Given the description of an element on the screen output the (x, y) to click on. 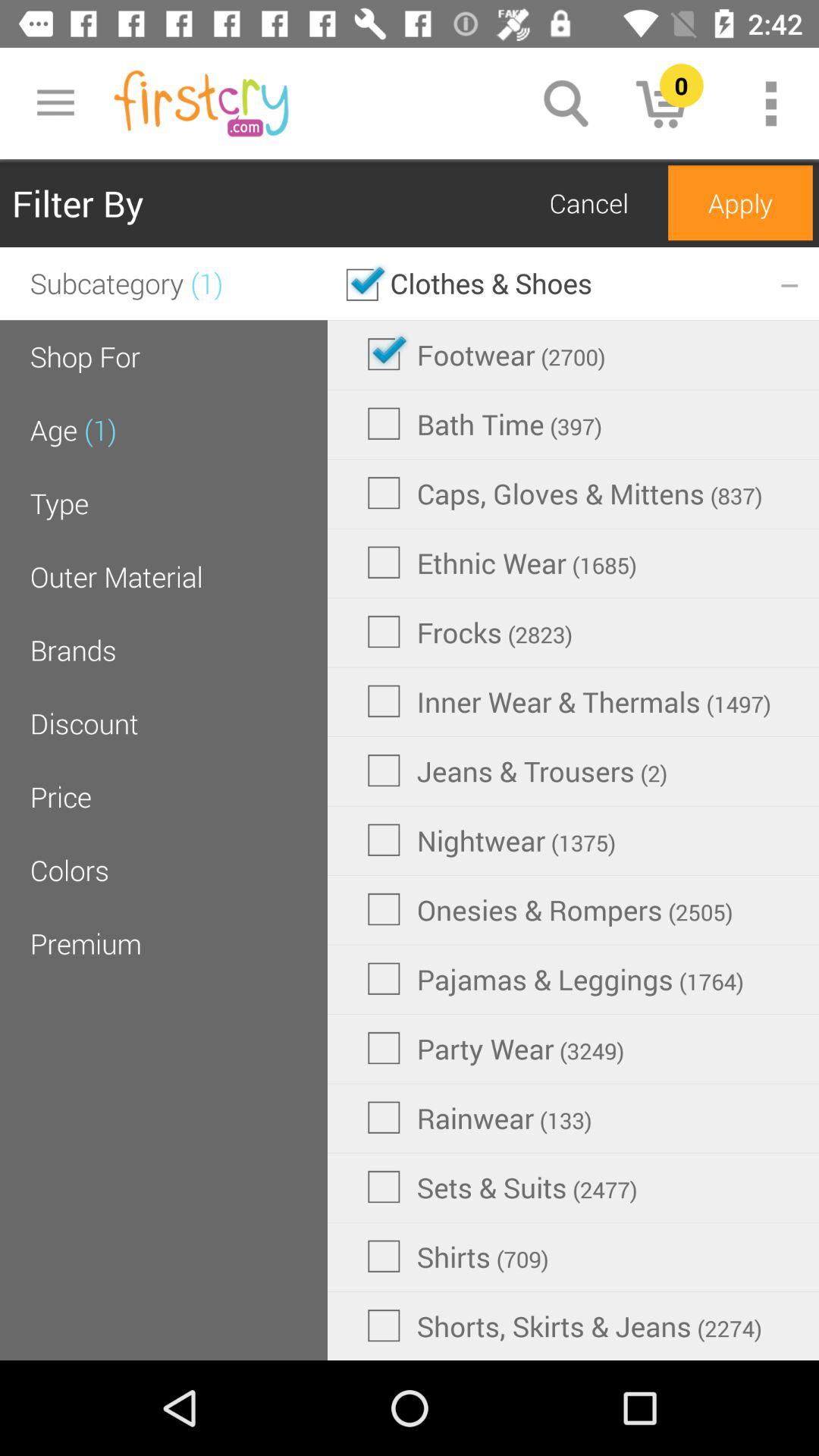
press icon below bath time (397) (564, 492)
